Given the description of an element on the screen output the (x, y) to click on. 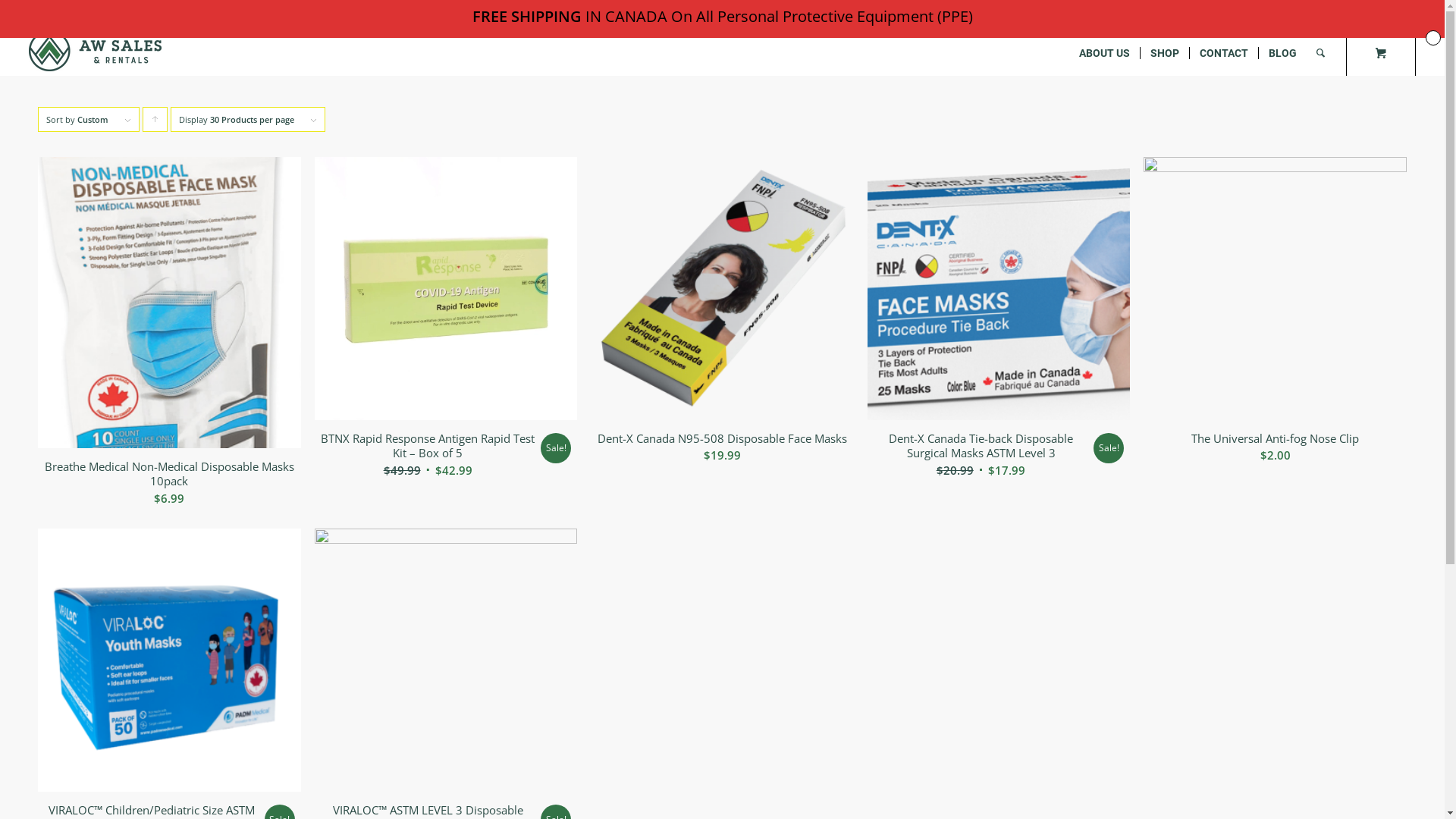
Facebook Element type: hover (1358, 11)
CONTACT Element type: text (1223, 52)
Click to order products ascending Element type: text (154, 118)
SHOP Element type: text (1164, 52)
Instagram Element type: hover (1404, 11)
rsz_aw_sales_rentals_logo_hz_cmyk Element type: hover (94, 50)
The Universal Anti-fog Nose Clip
$2.00 Element type: text (1274, 314)
Breathe Medical Non-Medical Disposable Masks 10pack
$6.99 Element type: text (169, 335)
BLOG Element type: text (1282, 52)
Dent-X Canada N95-508 Disposable Face Masks
$19.99 Element type: text (721, 314)
ABOUT US Element type: text (1104, 52)
1-877-596-0813 Element type: text (133, 14)
LinkedIn Element type: hover (1381, 11)
